Given the description of an element on the screen output the (x, y) to click on. 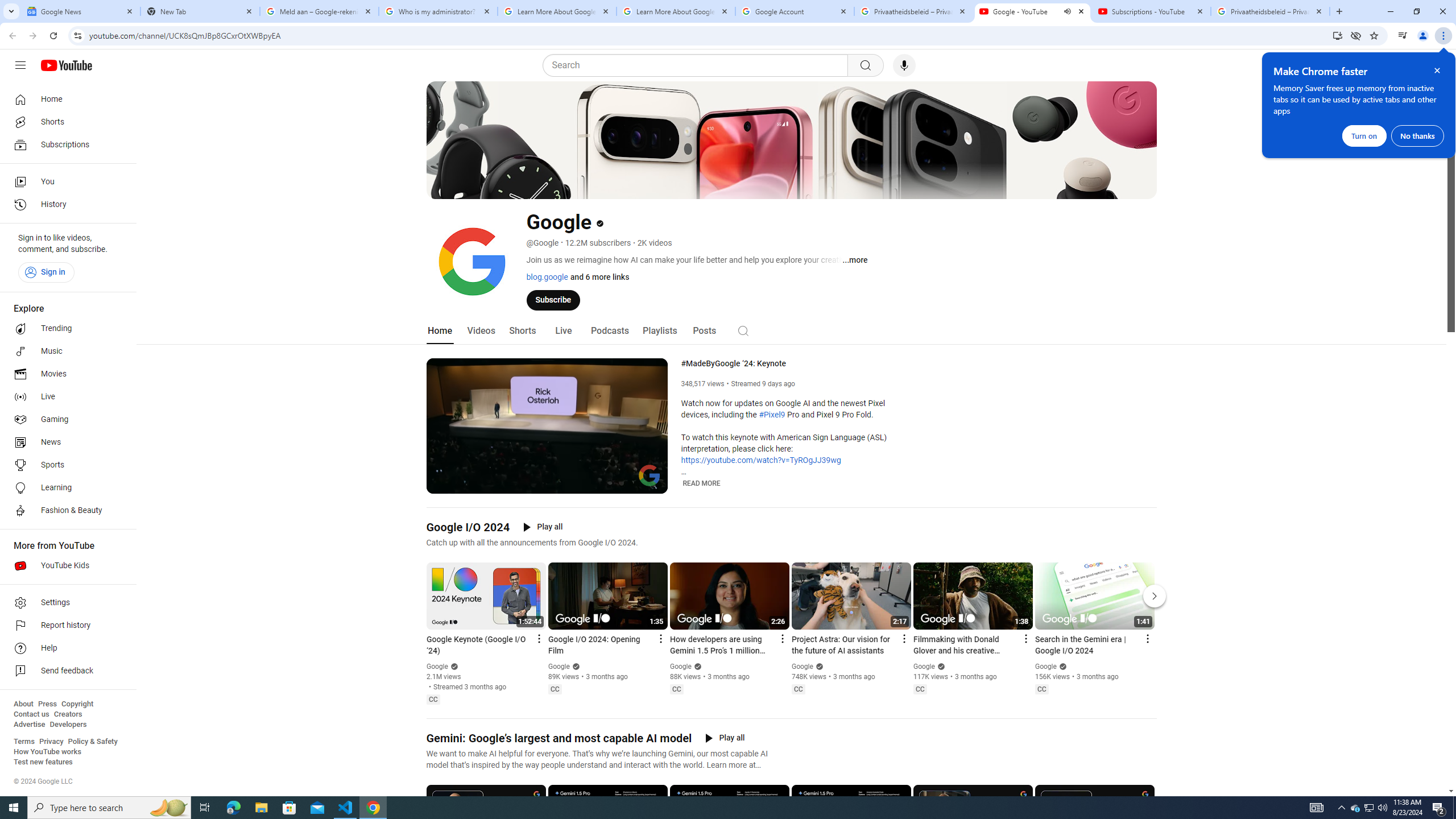
Policy & Safety (91, 741)
Gaming (64, 419)
Videos (481, 330)
READ MORE (701, 483)
Shorts (64, 121)
Report history (64, 625)
Mute (m) (463, 483)
READ MORE (701, 482)
Settings (64, 602)
Channel watermark (649, 475)
Play all (724, 738)
